Given the description of an element on the screen output the (x, y) to click on. 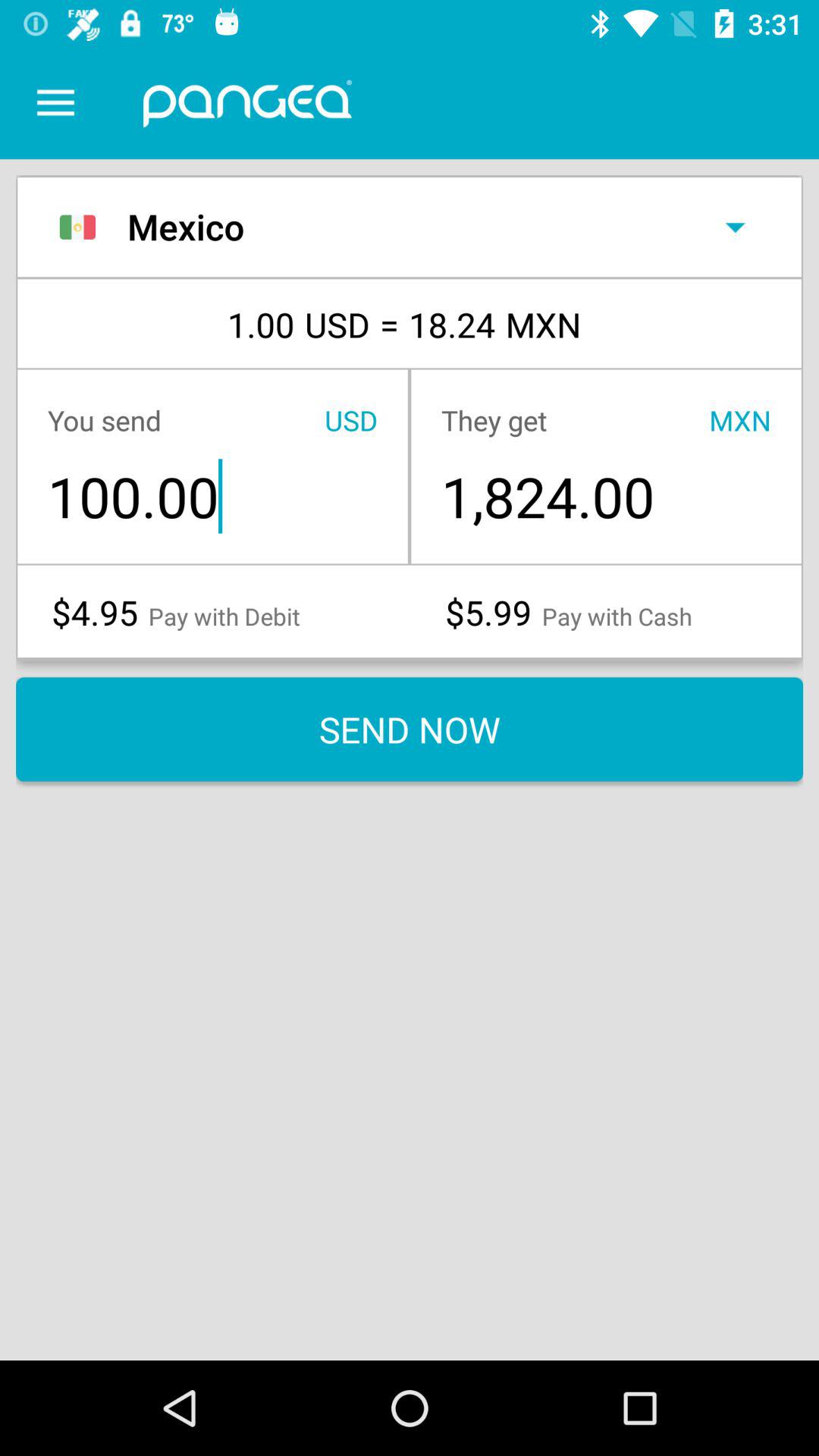
turn off the item next to 100.00 item (606, 495)
